Given the description of an element on the screen output the (x, y) to click on. 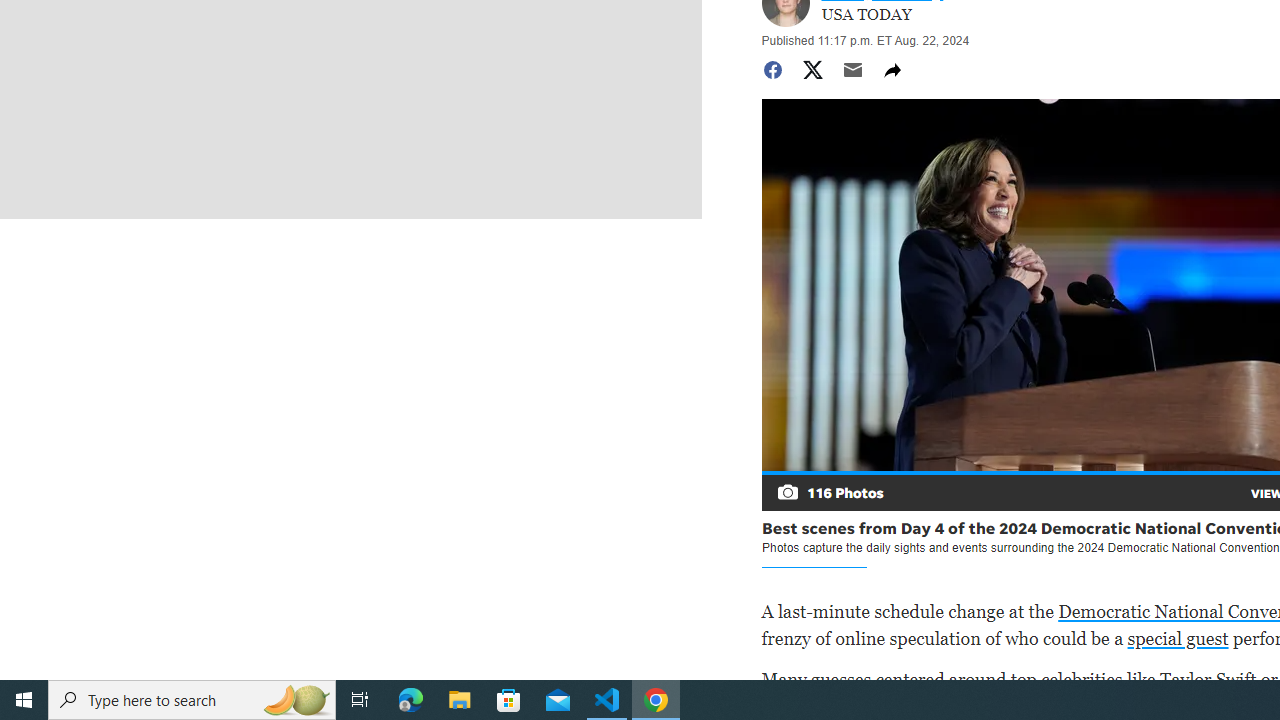
Share natively (891, 69)
Share by email (852, 69)
Share to Facebook (772, 69)
Taylor Swift (1207, 678)
Share to Twitter (812, 69)
special guest (1177, 637)
